Given the description of an element on the screen output the (x, y) to click on. 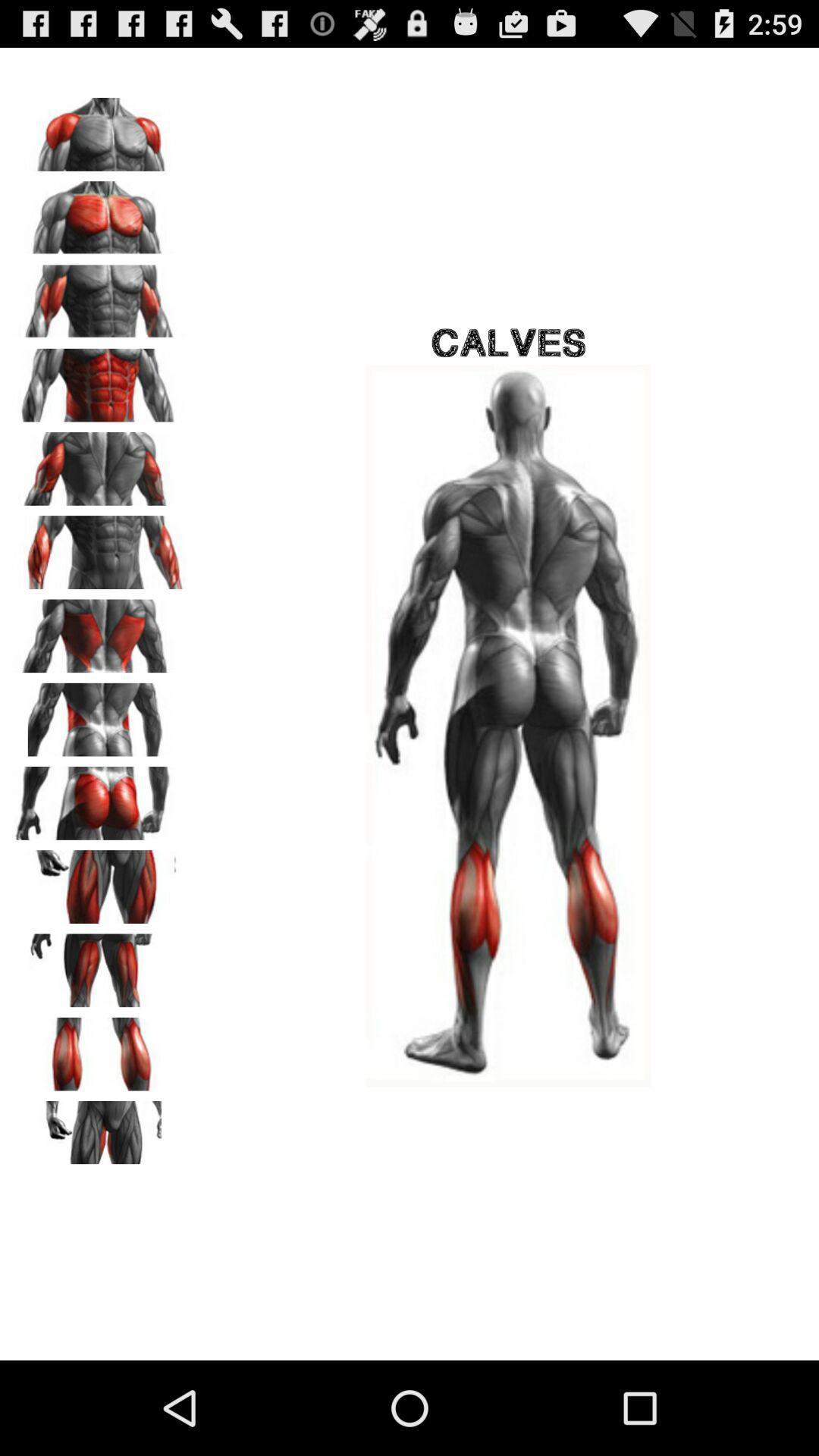
shows one of the option area (99, 630)
